Given the description of an element on the screen output the (x, y) to click on. 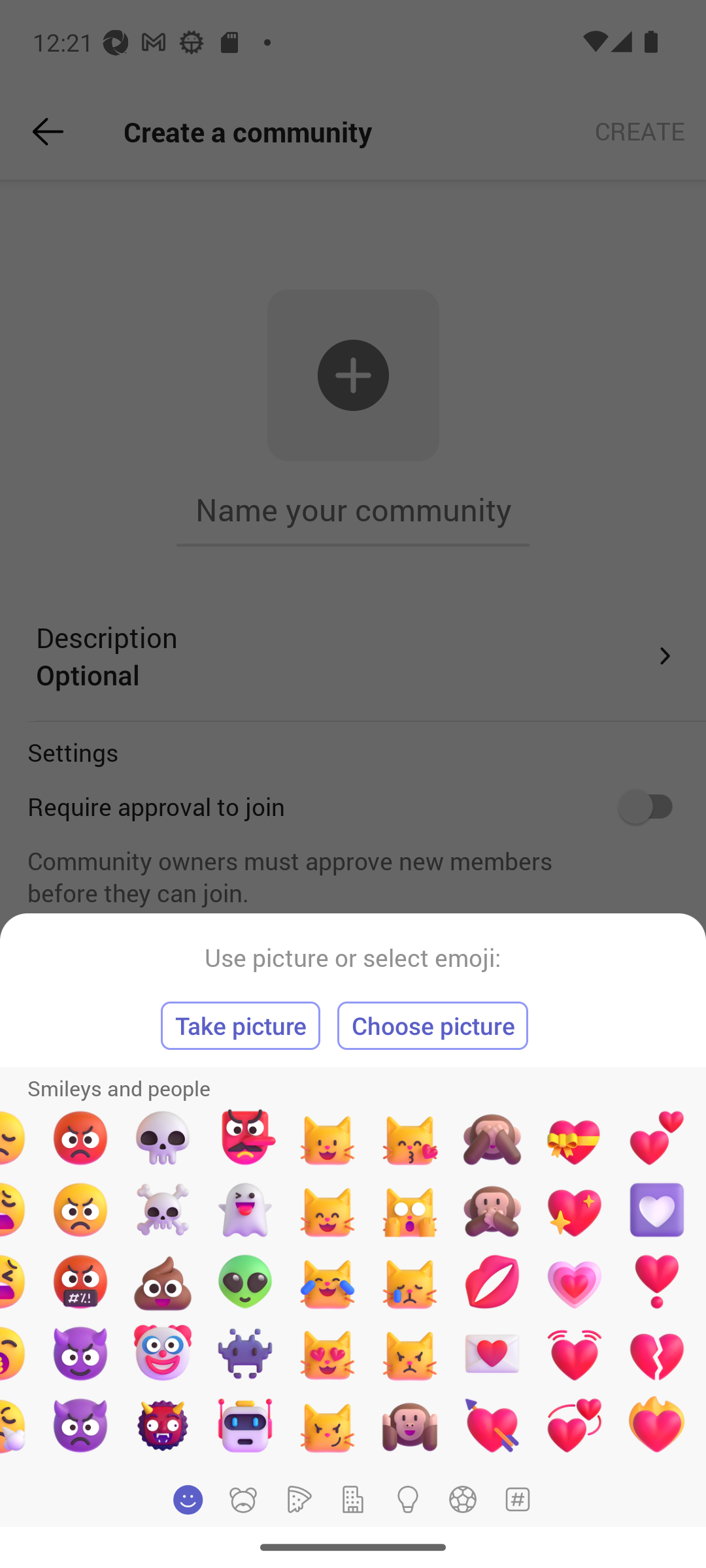
Take picture (240, 1025)
Choose picture (432, 1025)
Angry face emoji (80, 1138)
Skull emoji (162, 1138)
Goblin emoji (244, 1138)
Smile cat emoji (327, 1138)
Kissing cat emoji (409, 1138)
Monkey see no evil emoji (492, 1138)
Heart with ribbon emoji (574, 1138)
Two hearts emoji (656, 1138)
Angry emoji (80, 1210)
Skull and crossbones emoji (162, 1210)
Ghost emoji (244, 1210)
Laugh cat emoji (327, 1210)
Weary cat emoji (409, 1210)
Monkey speak no evil emoji (492, 1210)
Sparkling heart emoji (574, 1210)
Heart button emoji (656, 1210)
Swearing emoji (80, 1281)
Pile of poo emoji (162, 1281)
Alien emoji (244, 1281)
Cat with tears of joy emoji (327, 1281)
Sad cat emoji (409, 1281)
Kissing lips emoji (492, 1281)
Growing heart emoji (574, 1281)
Heart exclamation emoji (656, 1281)
Devil emoji (80, 1353)
Clown face emoji (162, 1353)
Alien monster emoji (244, 1353)
Heart eyes cat emoji (327, 1353)
Pouting cat emoji (409, 1353)
Love letter emoji (492, 1353)
Beating heart emoji (574, 1353)
Broken heart emoji (656, 1353)
Angry face with horns emoji (80, 1425)
Ogre emoji (162, 1425)
Smile robot emoji (244, 1425)
Cat with wry smile emoji (327, 1425)
Monkey hear no evil emoji (409, 1425)
Heart with arrow emoji (492, 1425)
Revolving hearts emoji (574, 1425)
Heart on fire emoji (656, 1425)
Smileys and people, selected (188, 1499)
Animals, not selected (243, 1499)
Food, not selected (297, 1499)
Travel and places, not selected (352, 1499)
Objects, not selected (407, 1499)
Activities, not selected (462, 1499)
Symbols, not selected (517, 1499)
